Given the description of an element on the screen output the (x, y) to click on. 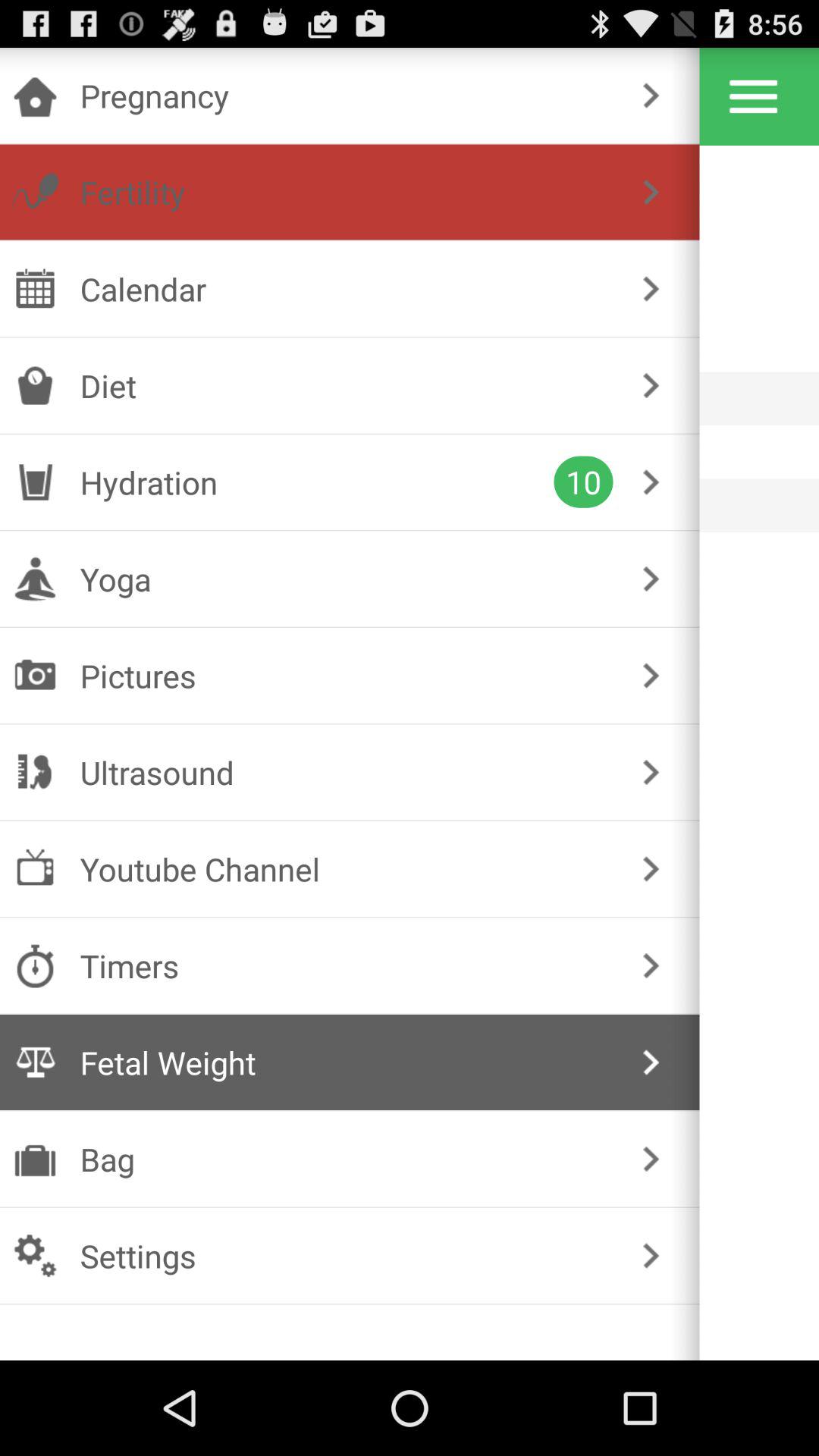
open/close menu (753, 96)
